Given the description of an element on the screen output the (x, y) to click on. 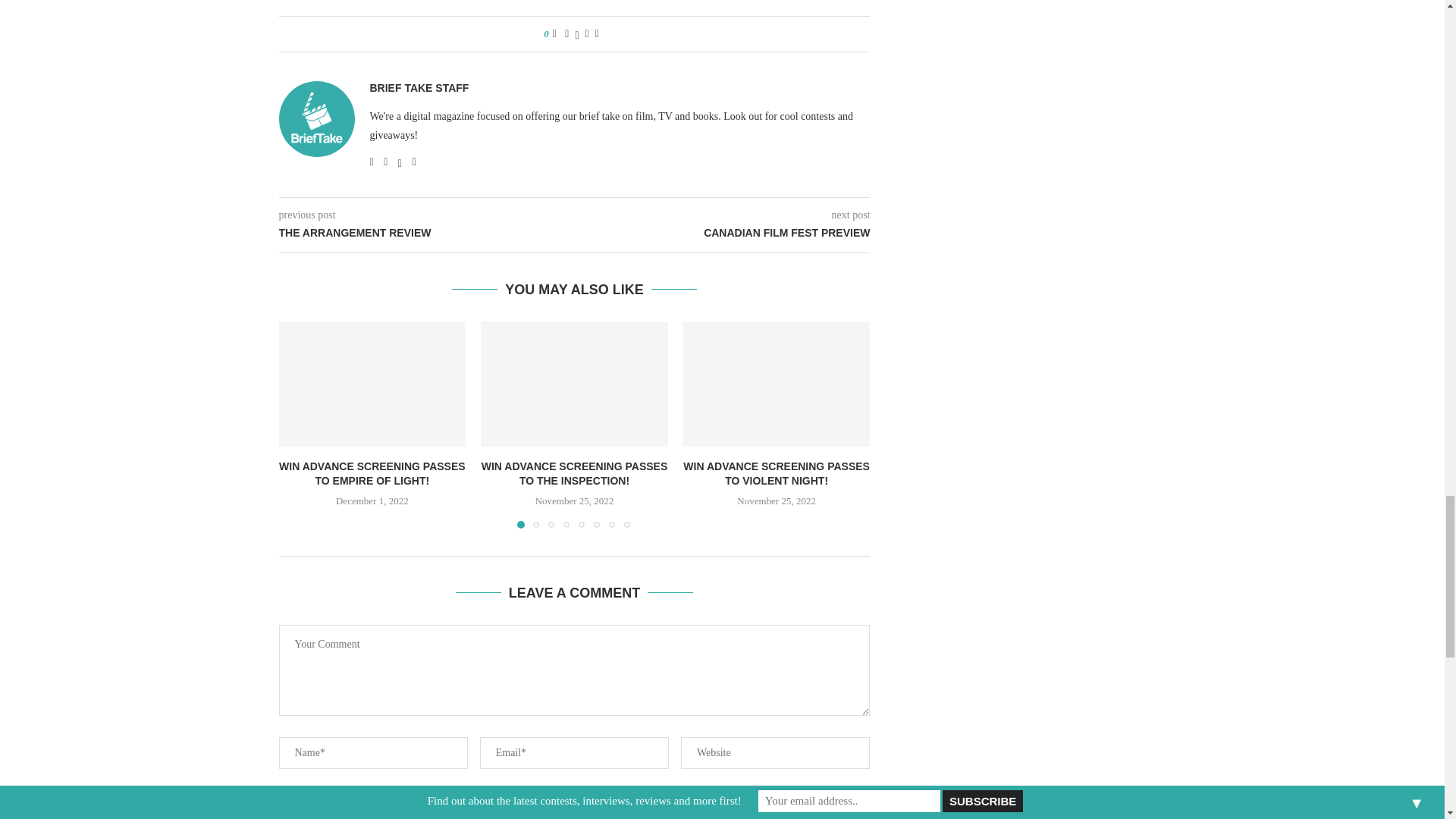
yes (283, 797)
Author Brief Take Staff (418, 88)
Submit (574, 817)
Win advance screening passes to Empire of Light! (372, 383)
Win advance screening passes to The Inspection! (574, 383)
Win advance screening passes to Violent Night! (776, 383)
